Given the description of an element on the screen output the (x, y) to click on. 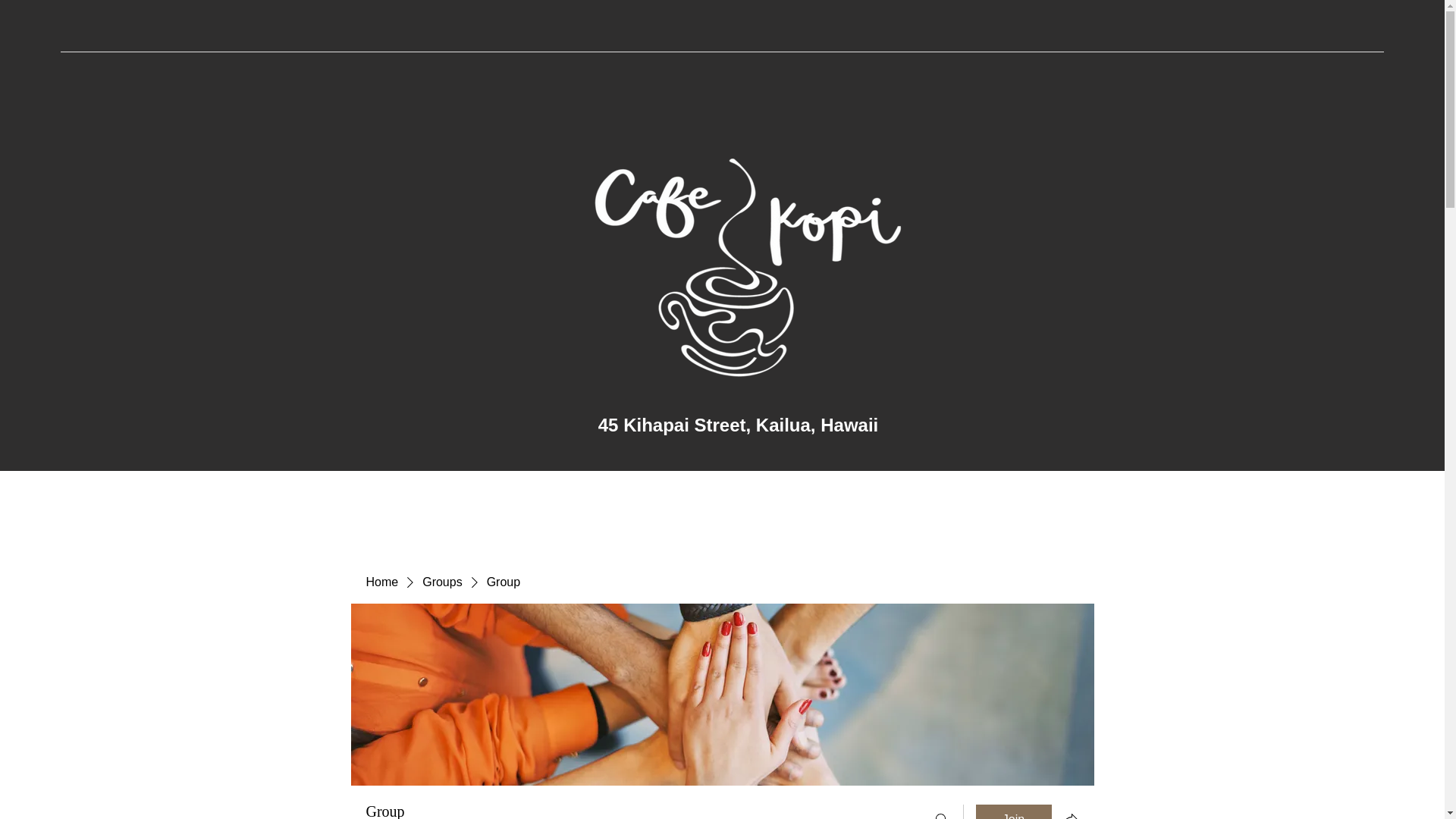
Join (1013, 811)
Groups (441, 582)
Home (381, 582)
45 Kihapai Street, Kailua, Hawaii (737, 424)
